Given the description of an element on the screen output the (x, y) to click on. 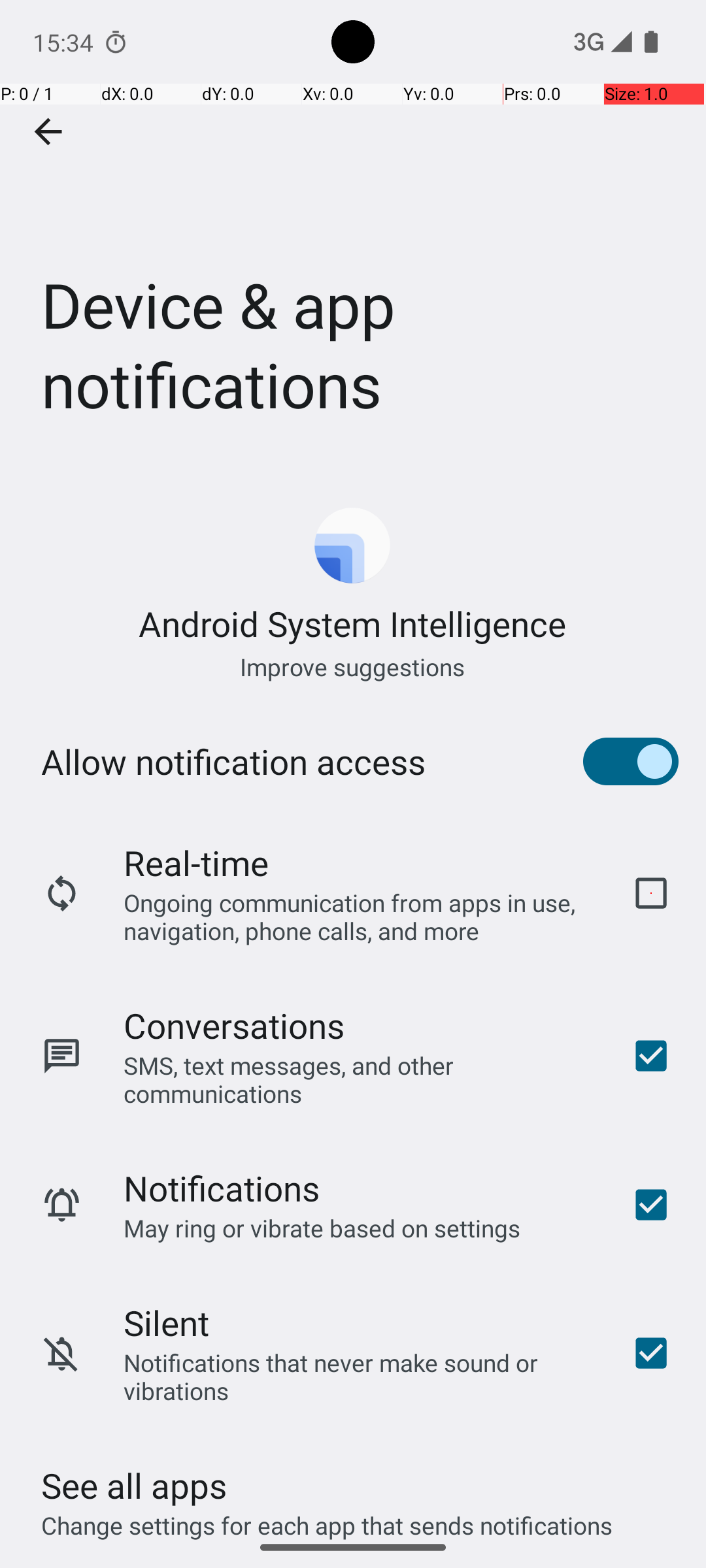
Improve suggestions Element type: android.widget.TextView (352, 666)
Allow notification access Element type: android.widget.TextView (233, 761)
Real-time Element type: android.widget.TextView (195, 862)
Ongoing communication from apps in use, navigation, phone calls, and more Element type: android.widget.TextView (359, 916)
SMS, text messages, and other communications Element type: android.widget.TextView (359, 1079)
May ring or vibrate based on settings Element type: android.widget.TextView (322, 1227)
Notifications that never make sound or vibrations Element type: android.widget.TextView (359, 1376)
See all apps Element type: android.widget.TextView (133, 1485)
Change settings for each app that sends notifications Element type: android.widget.TextView (326, 1517)
